Given the description of an element on the screen output the (x, y) to click on. 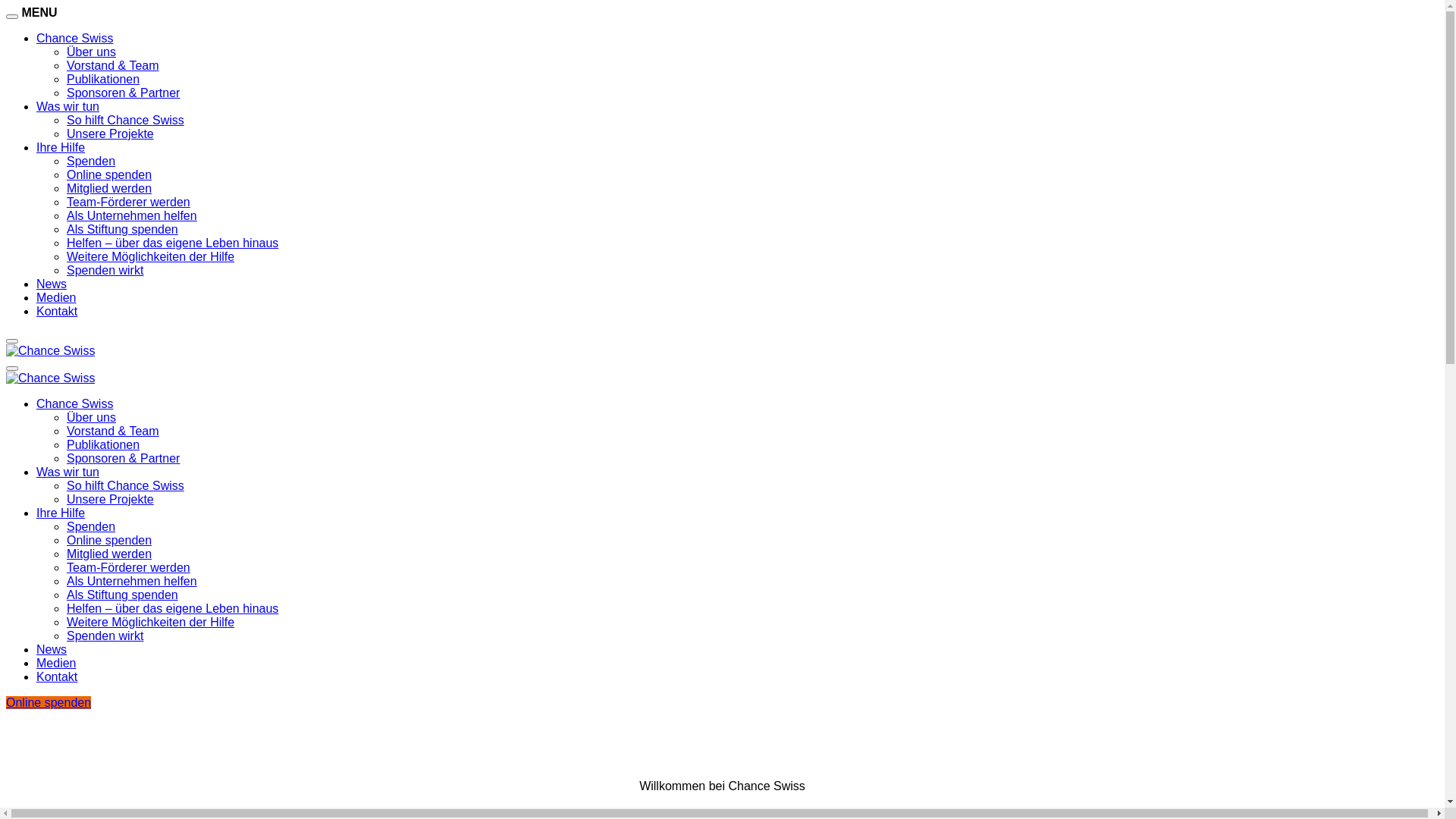
Online spenden Element type: text (108, 539)
Medien Element type: text (55, 297)
Spenden wirkt Element type: text (104, 635)
Vorstand & Team Element type: text (112, 65)
Kontakt Element type: text (56, 676)
Unsere Projekte Element type: text (109, 133)
Publikationen Element type: text (102, 444)
Als Unternehmen helfen Element type: text (131, 580)
So hilft Chance Swiss Element type: text (125, 485)
Als Stiftung spenden Element type: text (122, 594)
Was wir tun Element type: text (67, 471)
Ihre Hilfe Element type: text (60, 512)
Online spenden Element type: text (48, 702)
Spenden wirkt Element type: text (104, 269)
Online spenden Element type: text (108, 174)
News Element type: text (51, 649)
Medien Element type: text (55, 662)
Sponsoren & Partner Element type: text (122, 92)
News Element type: text (51, 283)
Spenden Element type: text (90, 526)
Chance Swiss Element type: text (74, 403)
Unsere Projekte Element type: text (109, 498)
Sponsoren & Partner Element type: text (122, 457)
Publikationen Element type: text (102, 78)
Als Stiftung spenden Element type: text (122, 228)
Kontakt Element type: text (56, 310)
Was wir tun Element type: text (67, 106)
Vorstand & Team Element type: text (112, 430)
Als Unternehmen helfen Element type: text (131, 215)
Ihre Hilfe Element type: text (60, 147)
Spenden Element type: text (90, 160)
So hilft Chance Swiss Element type: text (125, 119)
Mitglied werden Element type: text (108, 553)
Mitglied werden Element type: text (108, 188)
Chance Swiss Element type: text (74, 37)
